Given the description of an element on the screen output the (x, y) to click on. 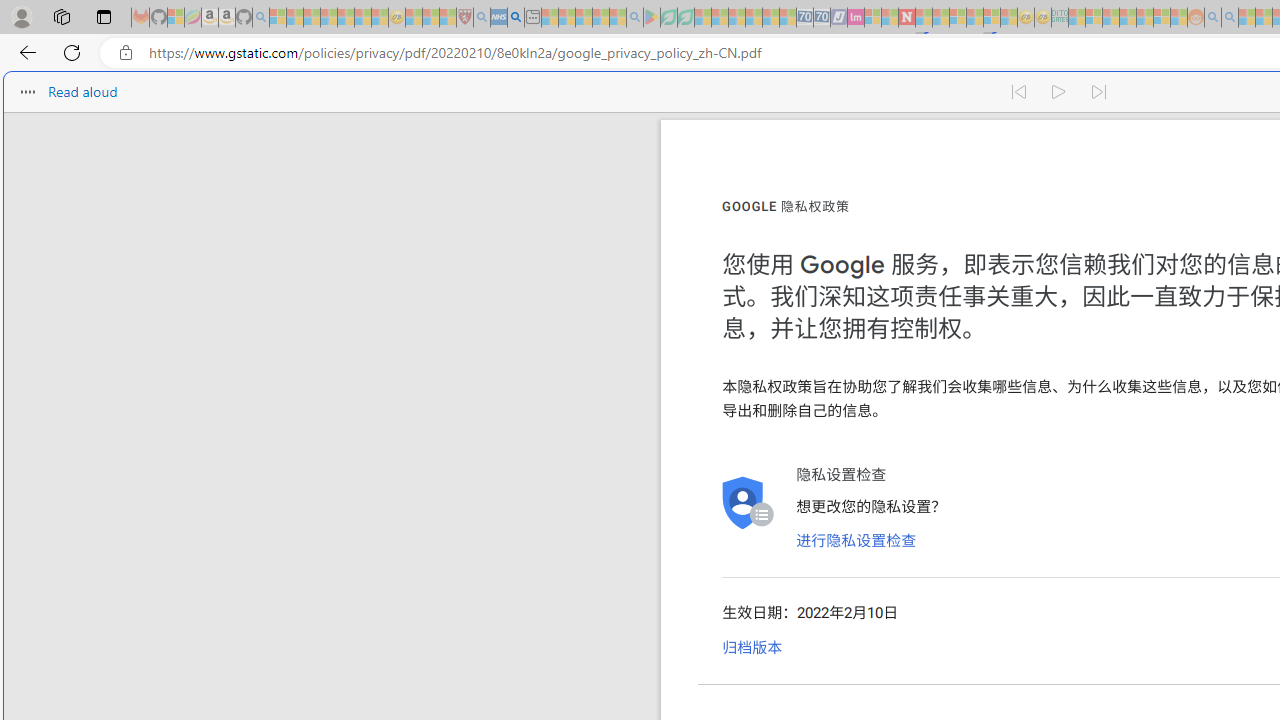
Jobs - lastminute.com Investor Portal - Sleeping (855, 17)
Cheap Car Rentals - Save70.com - Sleeping (804, 17)
New tab - Sleeping (532, 17)
Read next paragraph (1099, 92)
MSNBC - MSN - Sleeping (1076, 17)
DITOGAMES AG Imprint - Sleeping (1059, 17)
Microsoft-Report a Concern to Bing - Sleeping (175, 17)
